Given the description of an element on the screen output the (x, y) to click on. 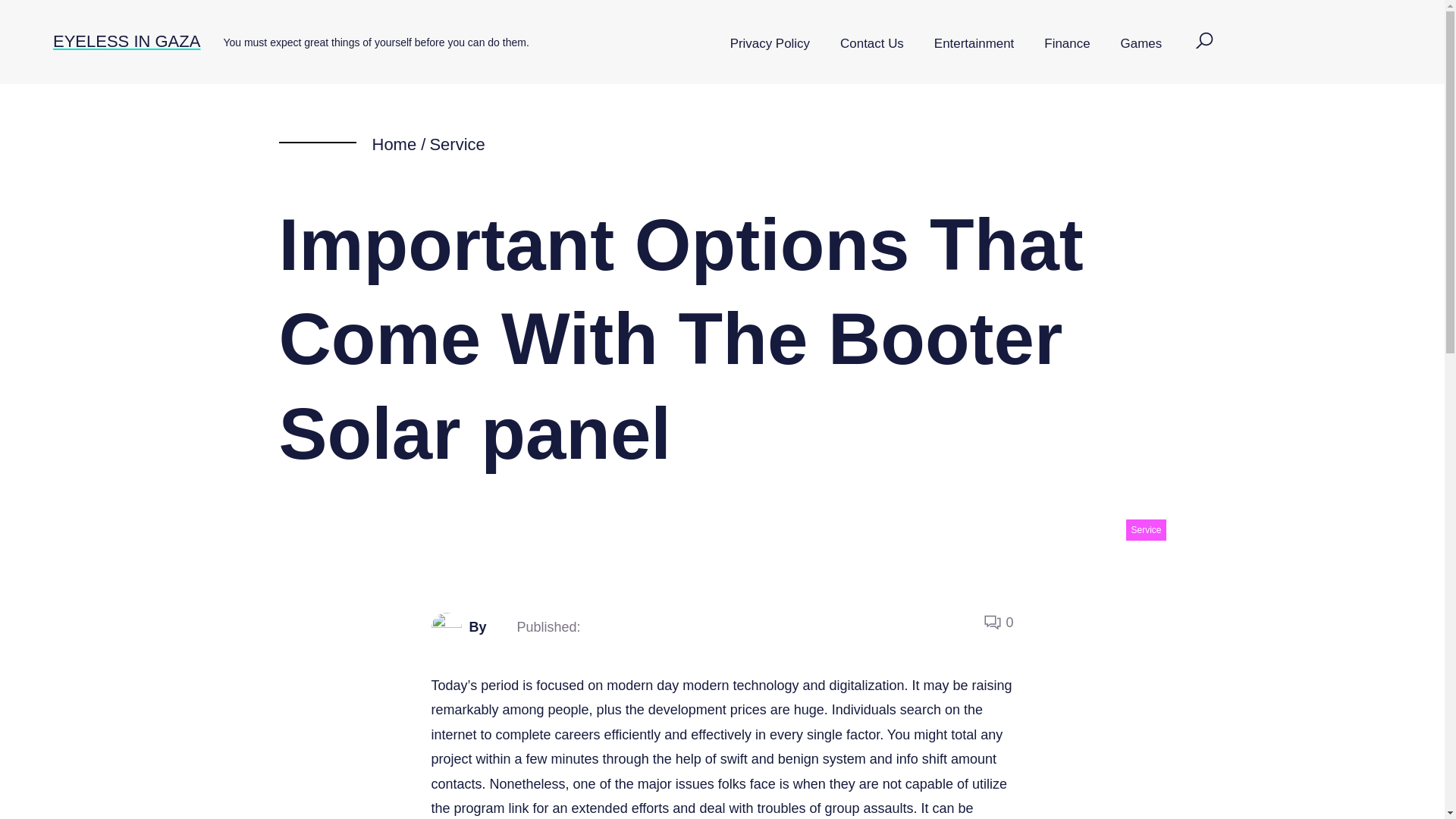
Finance (1067, 43)
Service (456, 144)
Entertainment (973, 43)
Games (1141, 43)
Contact Us (871, 43)
Service (1145, 529)
Home (393, 144)
EYELESS IN GAZA (126, 40)
Privacy Policy (769, 43)
